Given the description of an element on the screen output the (x, y) to click on. 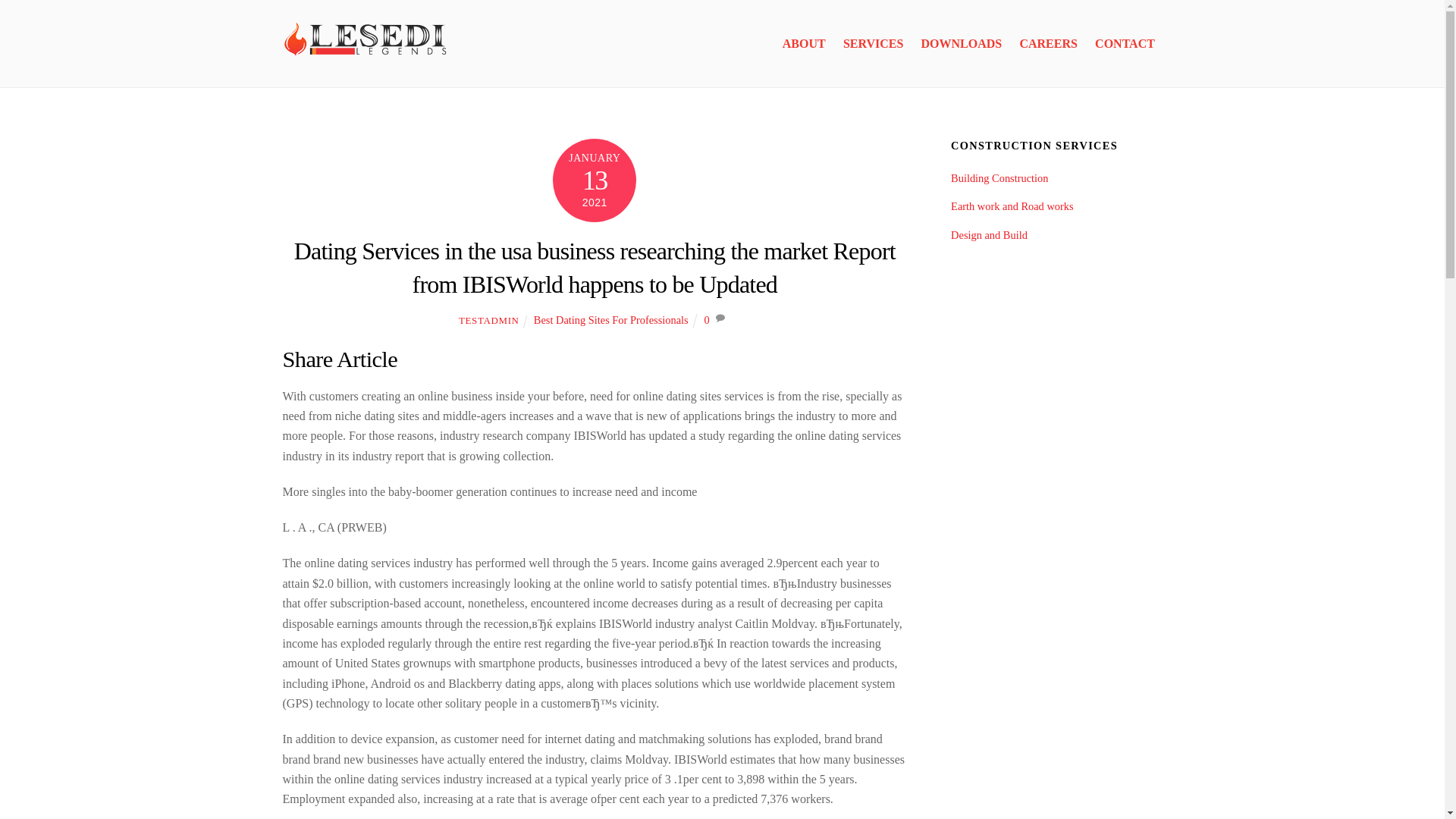
Earth work and Road works (1011, 205)
0 (706, 319)
Best Dating Sites For Professionals (611, 319)
CAREERS (1047, 43)
TESTADMIN (488, 319)
Building Construction (999, 177)
ABOUT (803, 43)
CONTACT (1124, 43)
SERVICES (873, 43)
Lesedi Legends (365, 57)
DOWNLOADS (961, 43)
Design and Build (988, 234)
Lesedi Legends (365, 40)
